Given the description of an element on the screen output the (x, y) to click on. 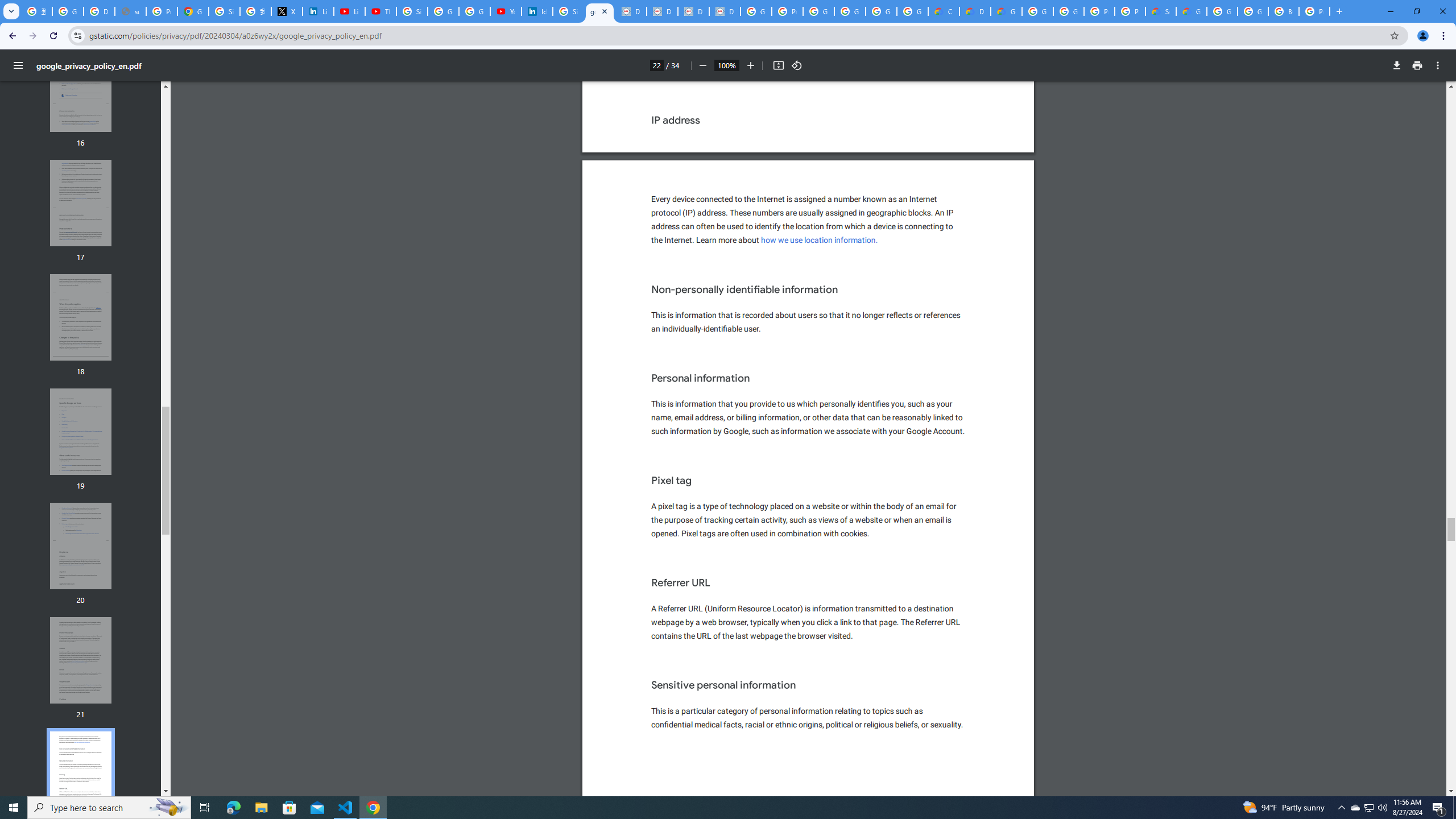
X (286, 11)
Zoom level (726, 64)
Google Workspace - Specific Terms (912, 11)
Google Cloud Platform (1037, 11)
Download (1396, 65)
Thumbnail for page 20 (80, 545)
Thumbnail for page 19 (80, 431)
Thumbnail for page 21 (80, 660)
